Given the description of an element on the screen output the (x, y) to click on. 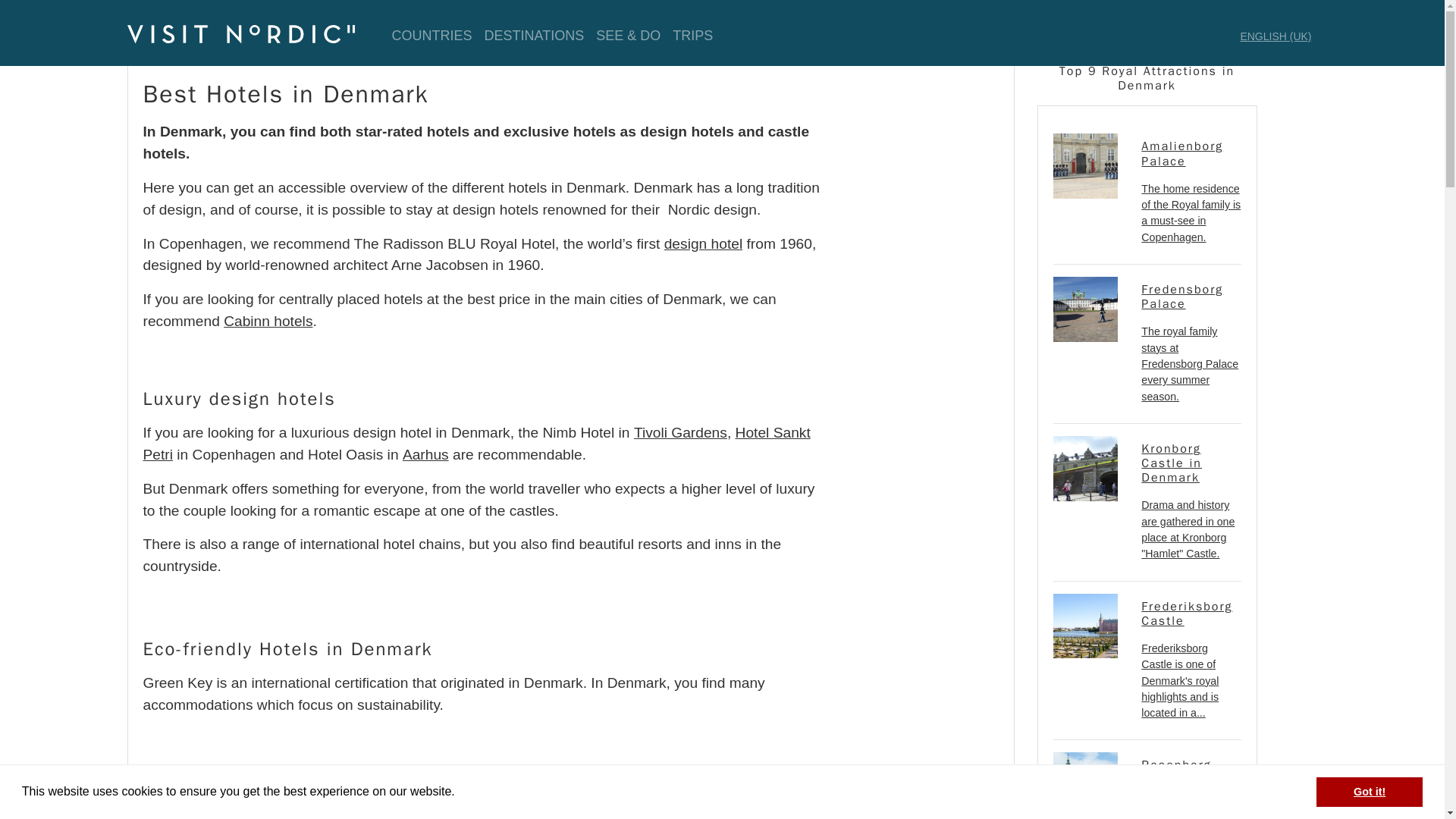
Got it! (1369, 791)
COUNTRIES (431, 35)
DESTINATIONS (535, 35)
